Given the description of an element on the screen output the (x, y) to click on. 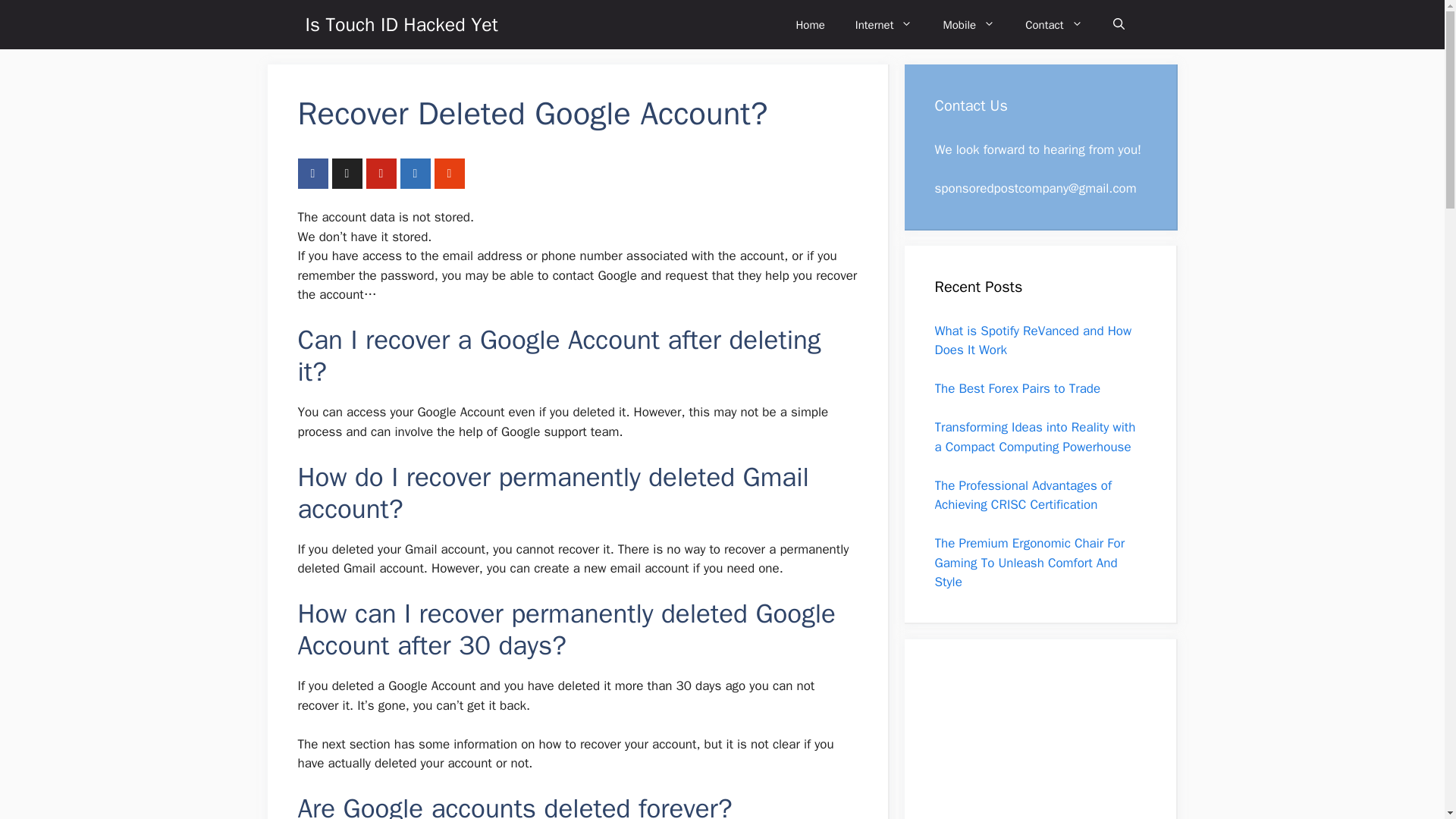
Internet (884, 23)
Home (810, 23)
Advertisement (1031, 744)
Mobile (968, 23)
Contact (1053, 23)
Is Touch ID Hacked Yet (400, 24)
